Given the description of an element on the screen output the (x, y) to click on. 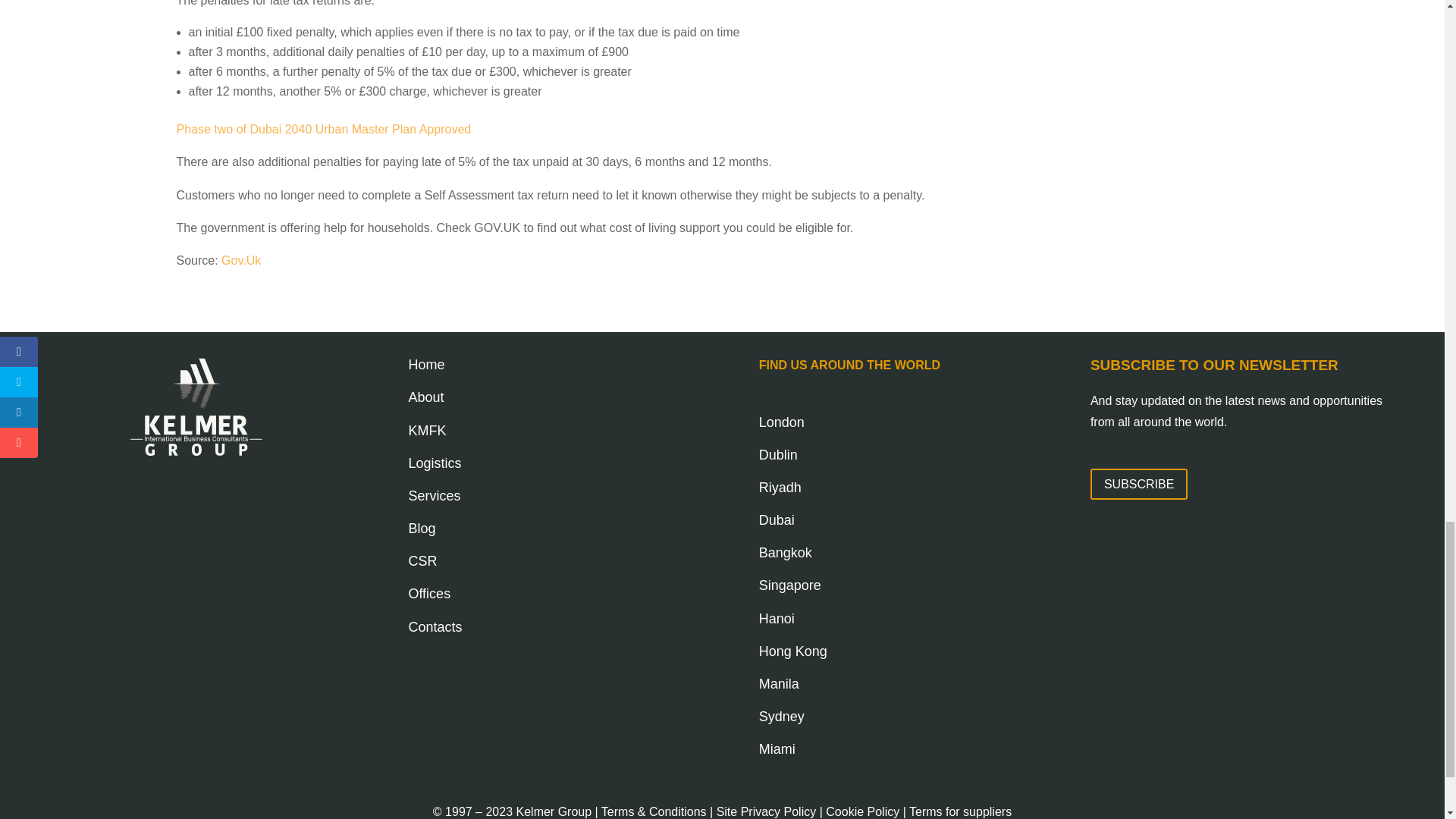
kelmer-group-logo (196, 406)
Privacy Policy (766, 811)
